Given the description of an element on the screen output the (x, y) to click on. 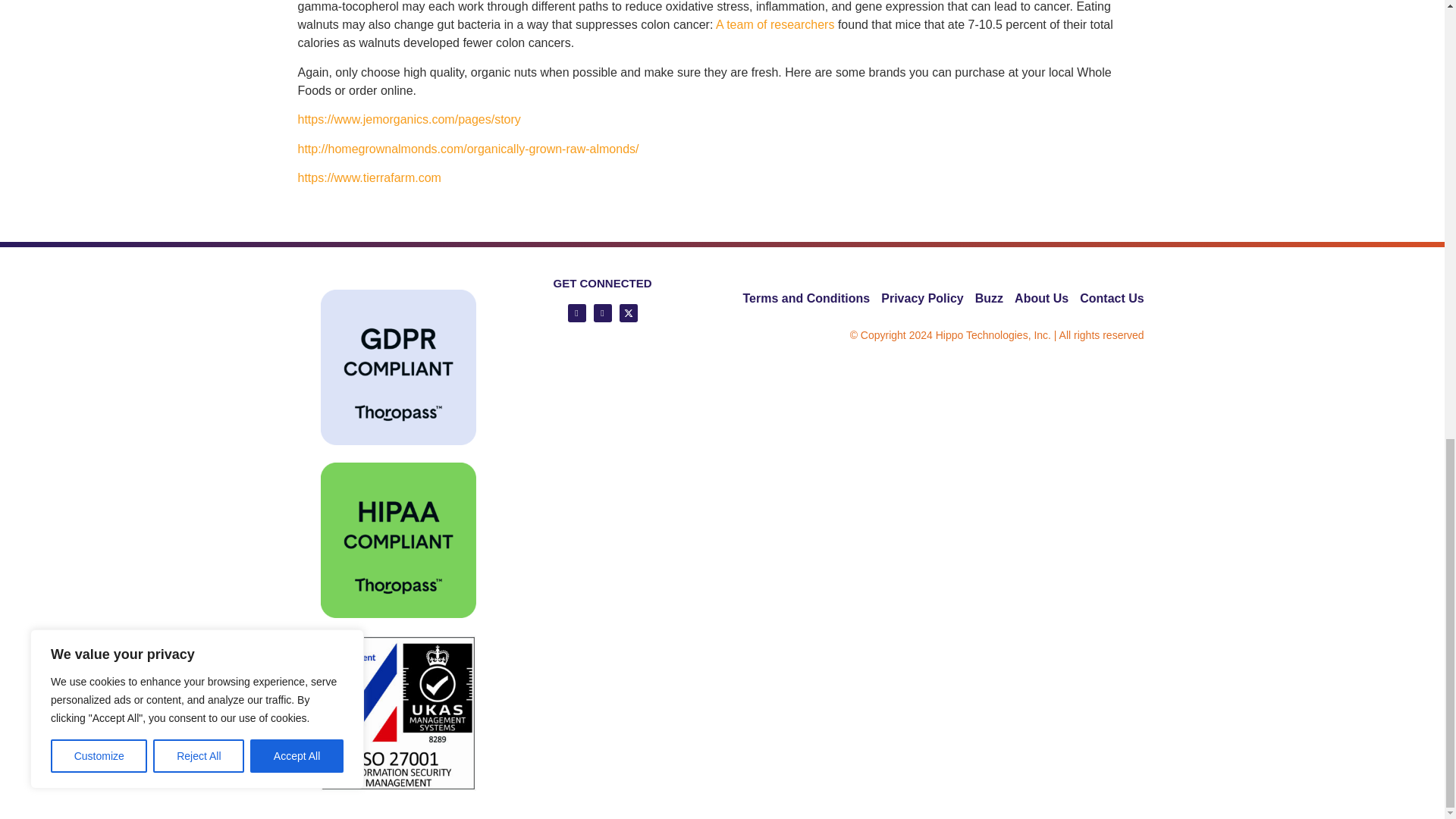
A team of researchers (775, 24)
